Given the description of an element on the screen output the (x, y) to click on. 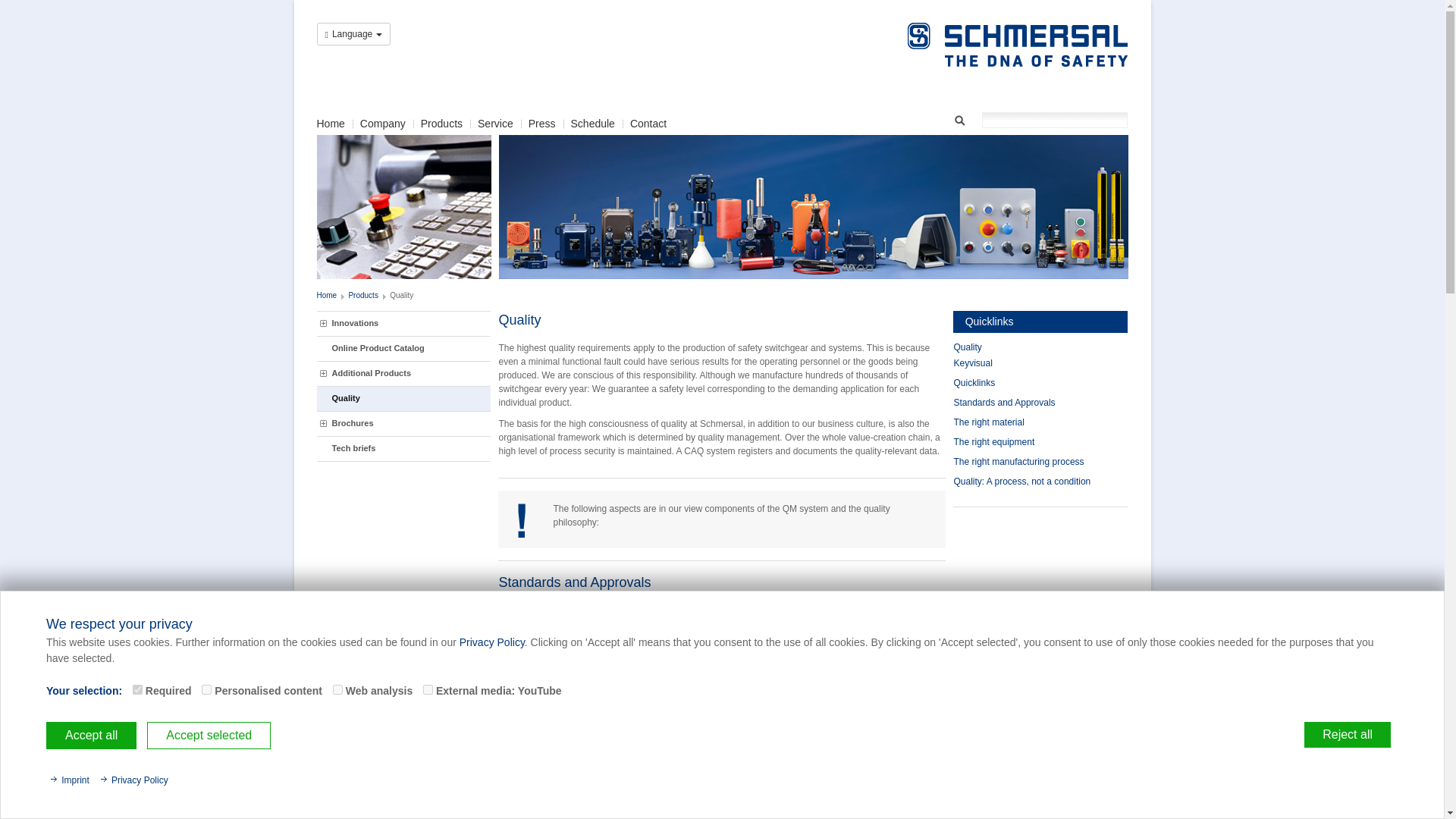
Home (331, 123)
Schedule (592, 123)
Reject all (1347, 734)
Products (441, 123)
Home (327, 295)
Suchen (959, 119)
Accept all (91, 735)
Privacy Policy (492, 642)
on (427, 689)
Language (354, 33)
Service (495, 123)
on (337, 689)
Press (542, 123)
Accept selected (208, 735)
Privacy Policy (134, 780)
